Given the description of an element on the screen output the (x, y) to click on. 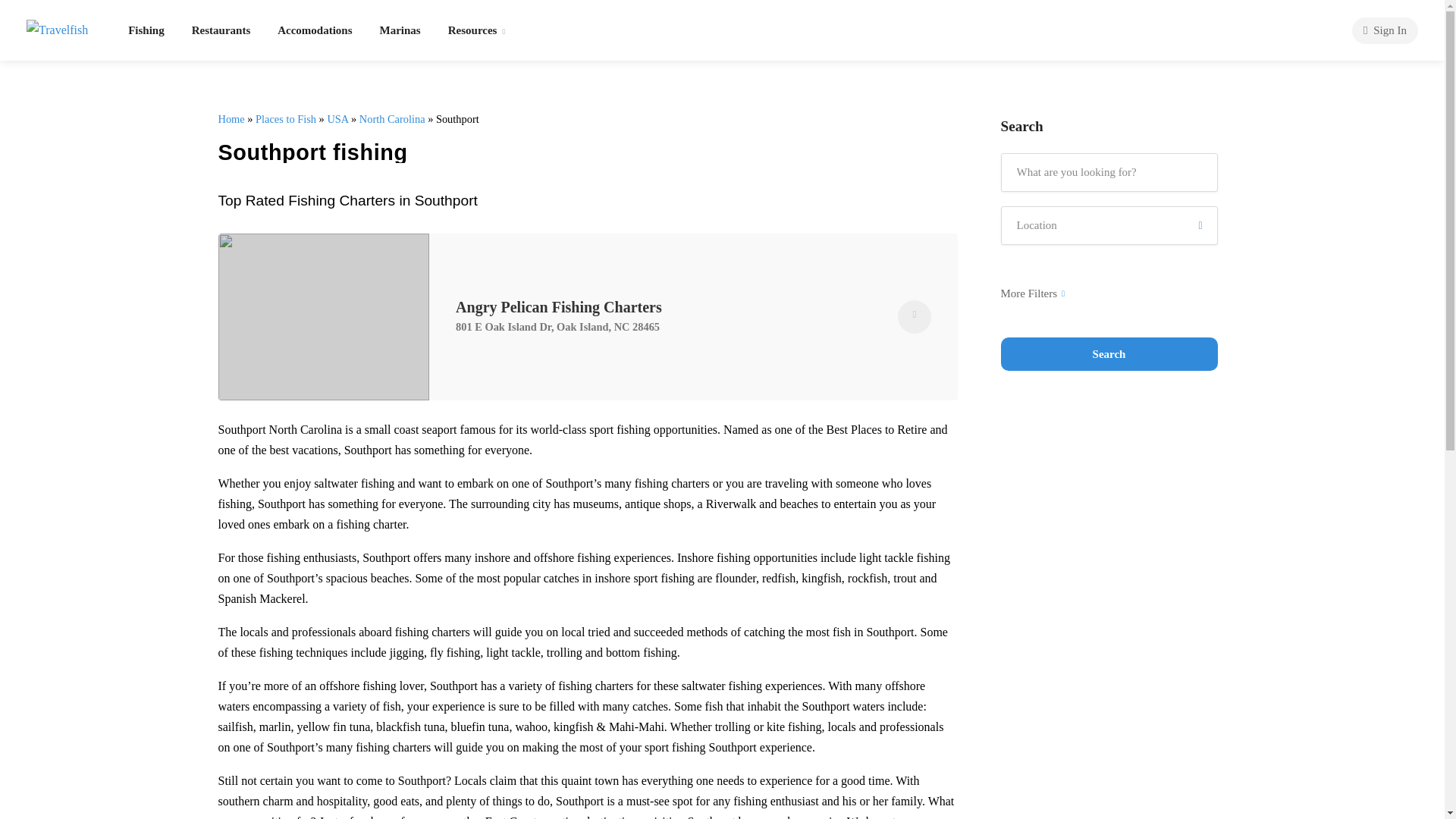
Marinas (400, 30)
Search (1109, 354)
Places to Fish (285, 119)
USA (336, 119)
North Carolina (392, 119)
Sign In (1385, 30)
Login To Bookmark Items (914, 316)
Resources (476, 30)
Fishing (146, 30)
Travelfish (56, 26)
Home (231, 119)
Accomodations (314, 30)
Restaurants (221, 30)
